Given the description of an element on the screen output the (x, y) to click on. 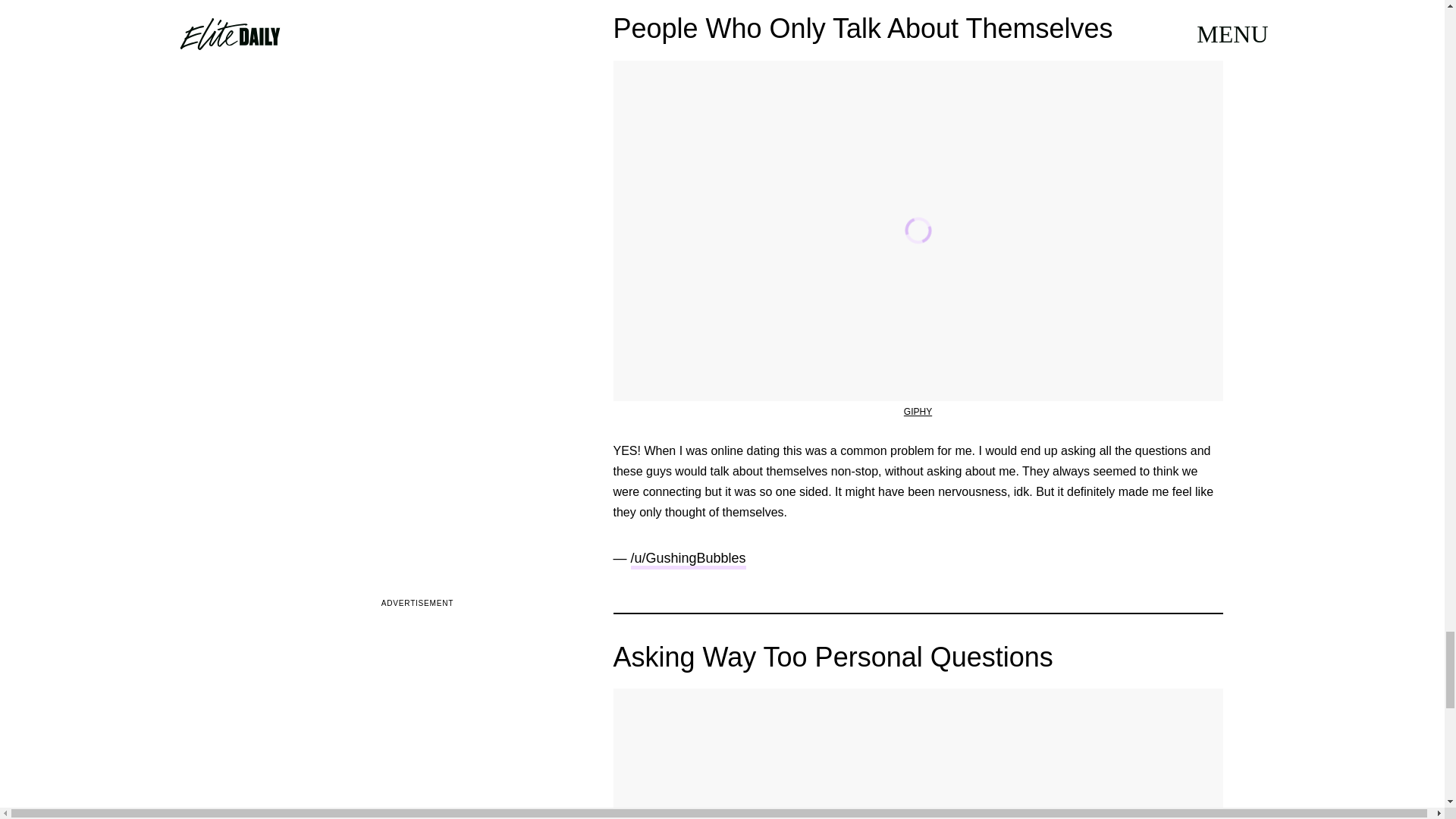
GIPHY (917, 411)
